Given the description of an element on the screen output the (x, y) to click on. 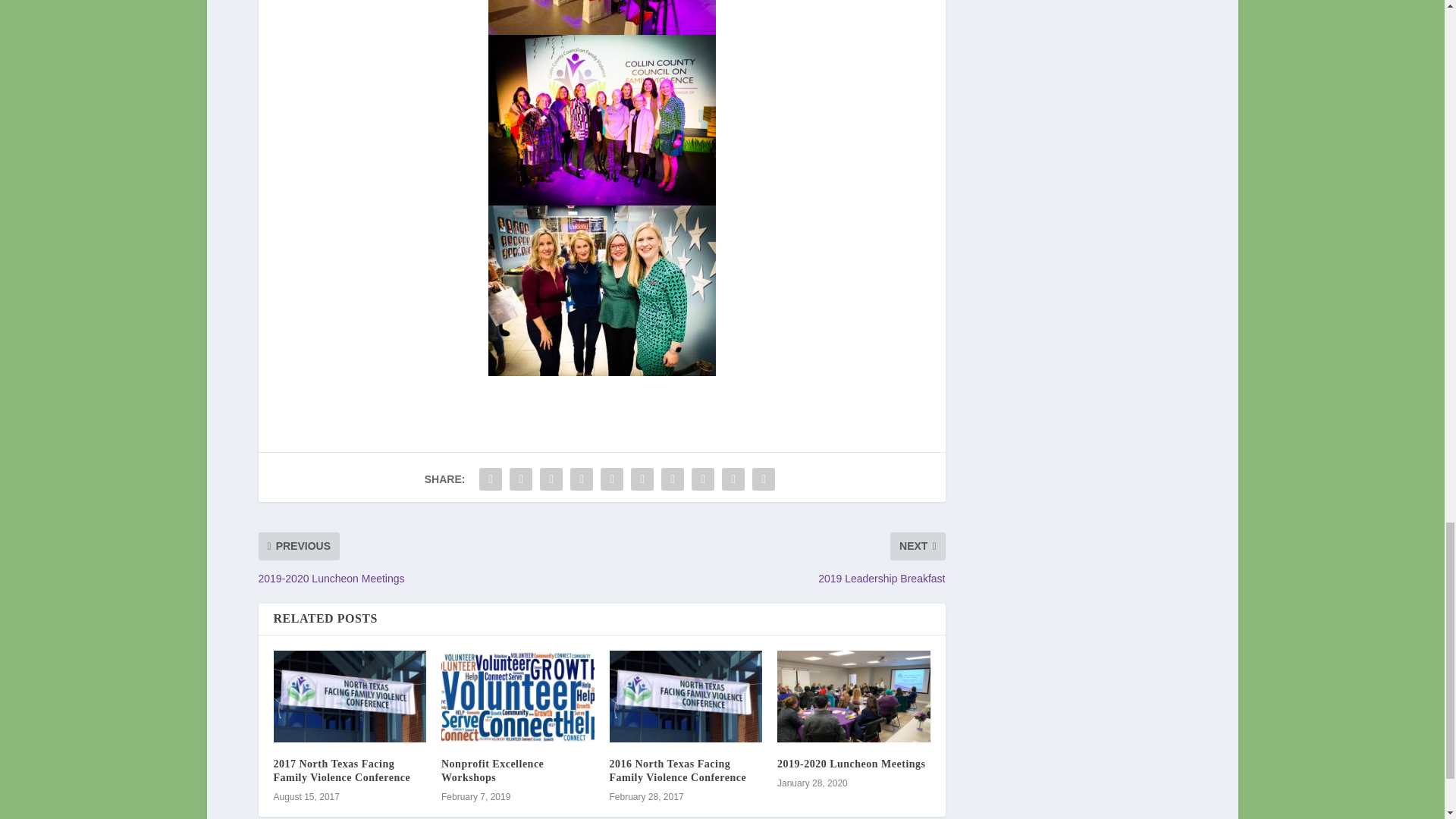
Share "Facing Family Violence in Collin County" via Tumblr (581, 479)
Share "Facing Family Violence in Collin County" via Twitter (520, 479)
Share "Facing Family Violence in Collin County" via LinkedIn (642, 479)
Share "Facing Family Violence in Collin County" via Facebook (490, 479)
Share "Facing Family Violence in Collin County" via Email (732, 479)
Share "Facing Family Violence in Collin County" via Print (763, 479)
Share "Facing Family Violence in Collin County" via Buffer (672, 479)
